Given the description of an element on the screen output the (x, y) to click on. 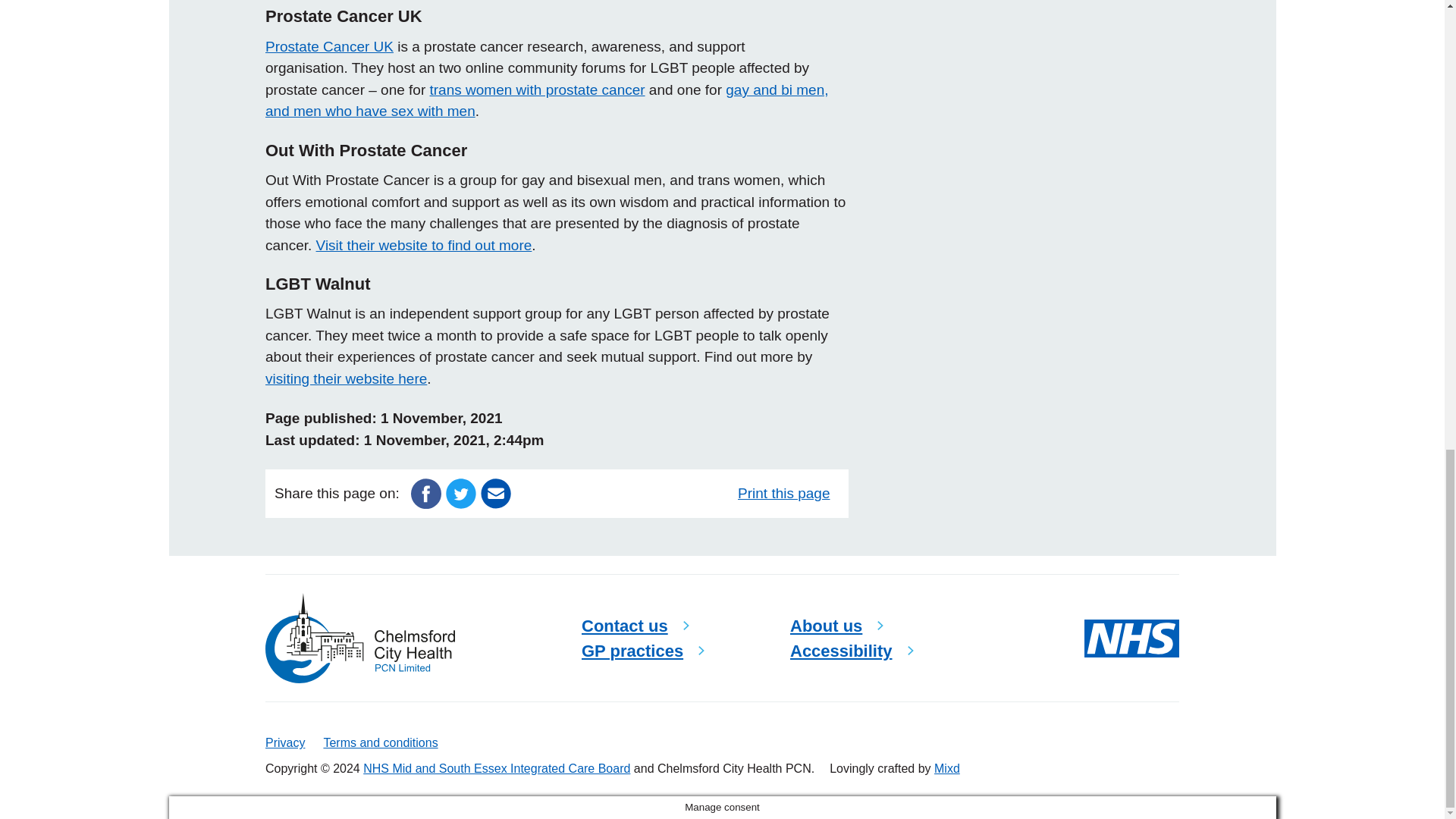
Share via Email (495, 492)
trans women with prostate cancer (537, 89)
gay and bi men, and men who have sex with men (546, 100)
The Chelmsford City Health PCN Homepage (359, 637)
Visit their website to find out more (423, 245)
Share on Twitter (460, 492)
Prostate Cancer UK (328, 46)
visiting their website here (345, 378)
Share on Facebook (425, 492)
